Given the description of an element on the screen output the (x, y) to click on. 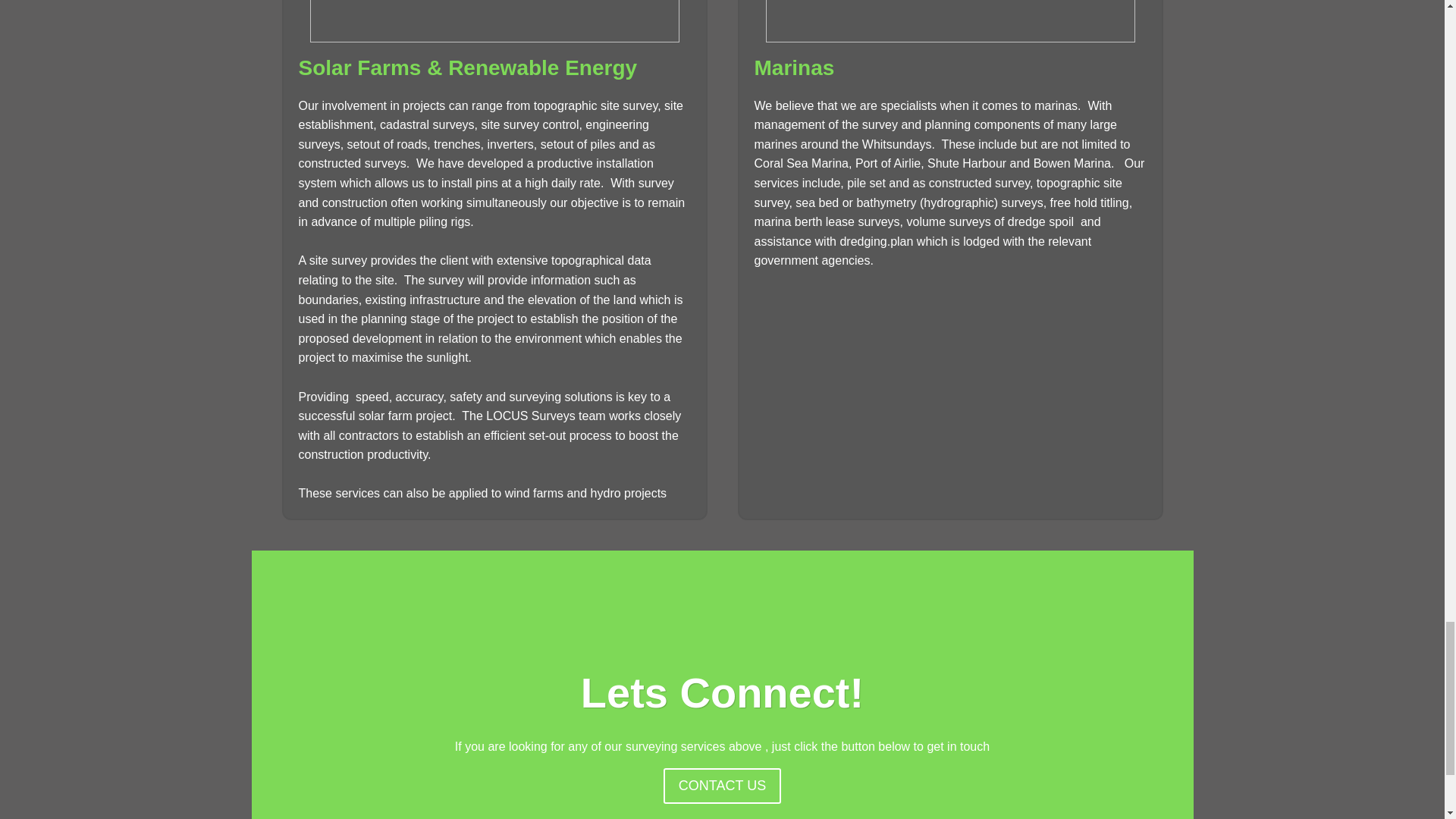
CONTACT US (721, 785)
